Given the description of an element on the screen output the (x, y) to click on. 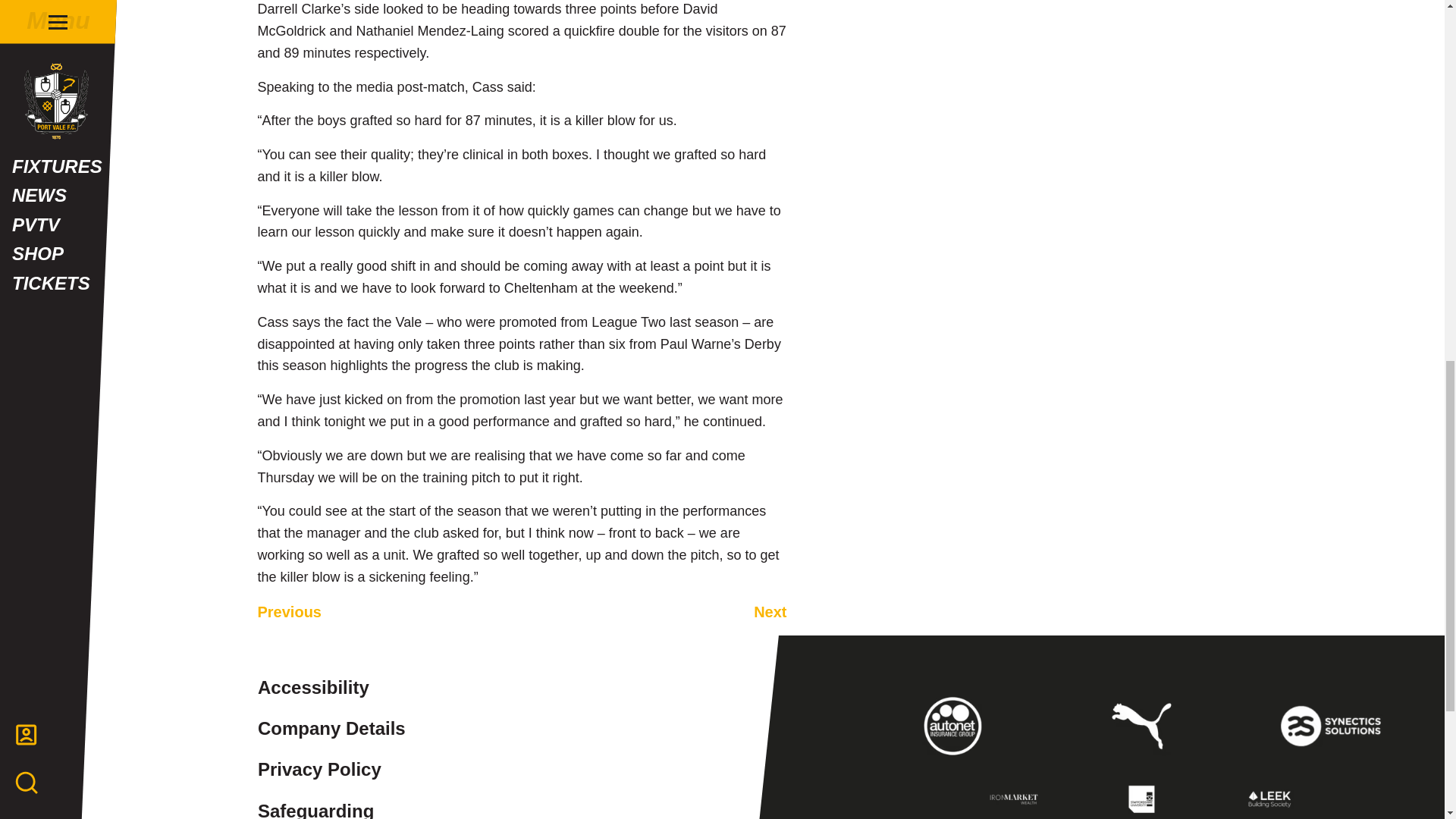
Puma (1141, 726)
Staffordshire Uni (1141, 799)
Leek Building Society (1269, 799)
Autonet (953, 726)
Synectics (1330, 726)
Ironmarket (1013, 799)
